Given the description of an element on the screen output the (x, y) to click on. 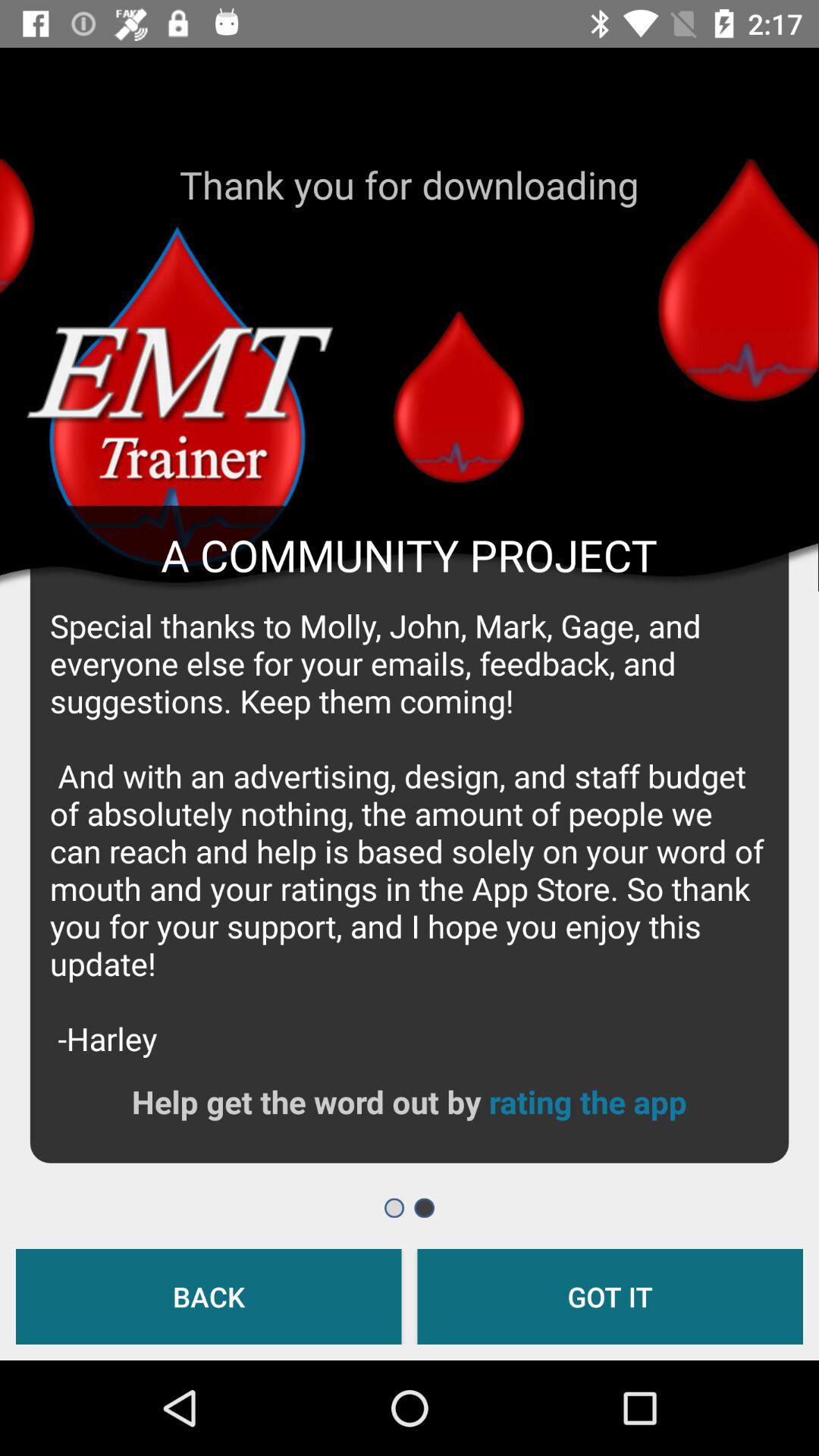
press got it icon (610, 1296)
